Given the description of an element on the screen output the (x, y) to click on. 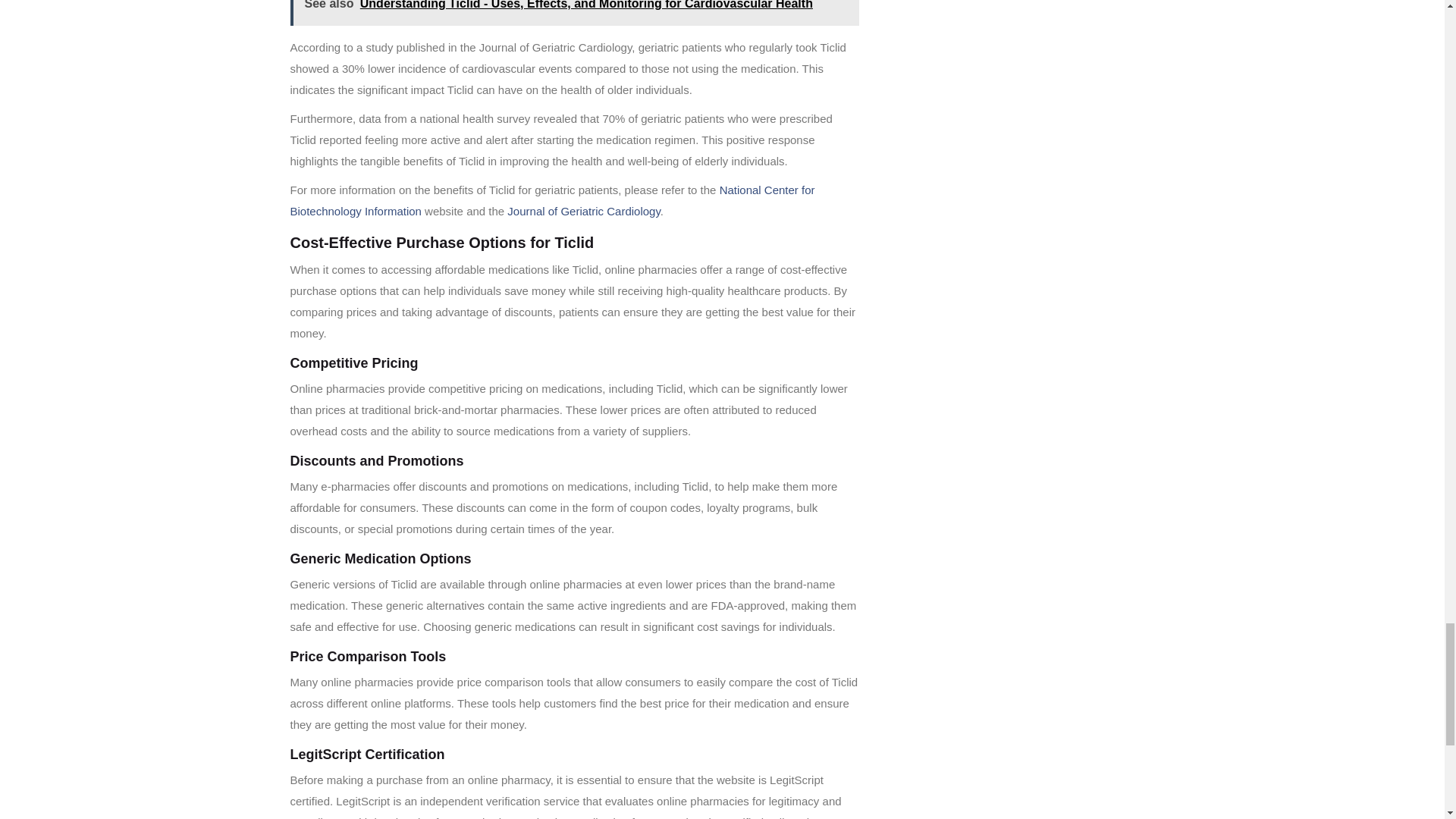
Journal of Geriatric Cardiology (582, 210)
National Center for Biotechnology Information (551, 200)
